Given the description of an element on the screen output the (x, y) to click on. 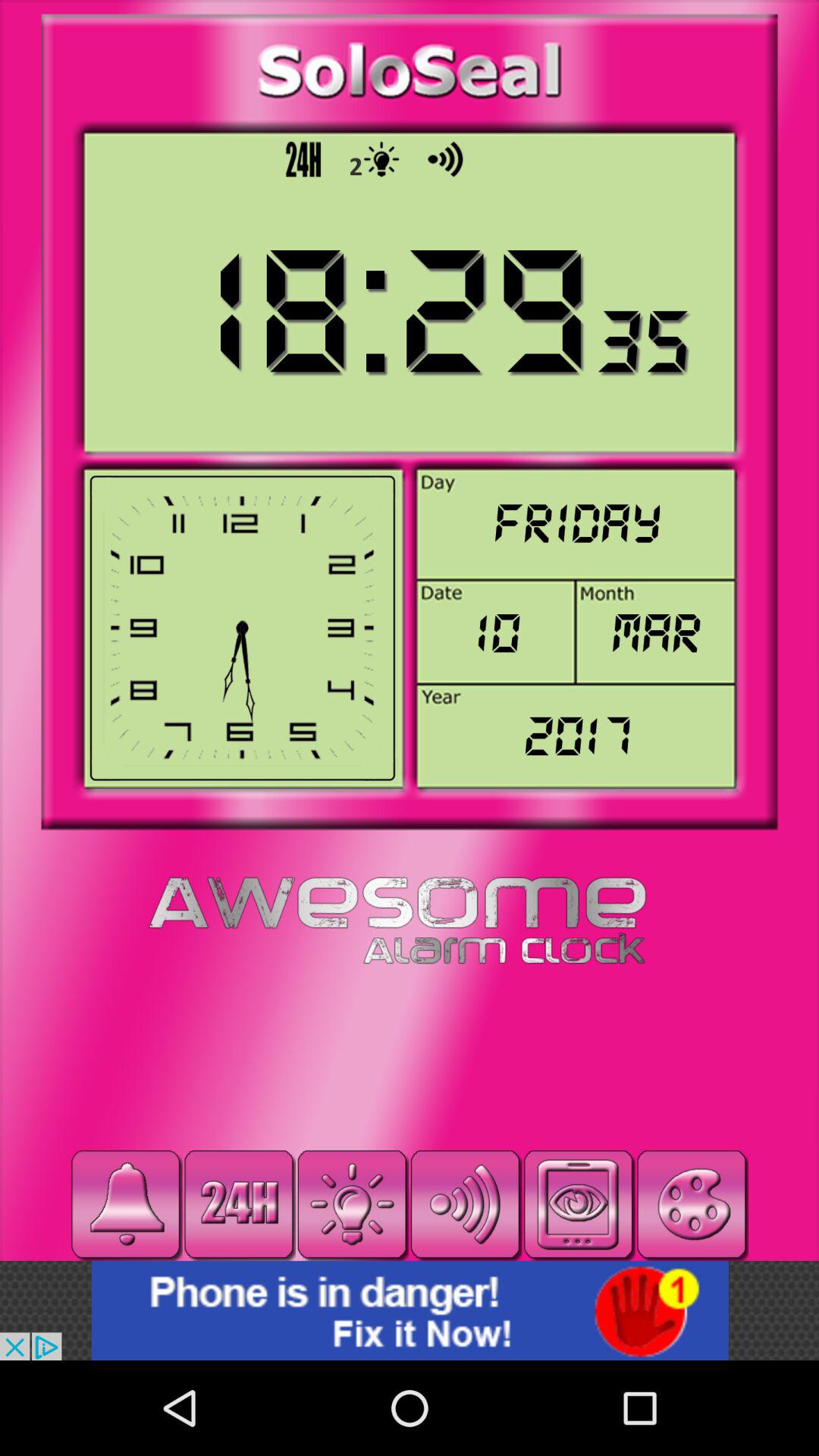
torch light on/off (351, 1203)
